Given the description of an element on the screen output the (x, y) to click on. 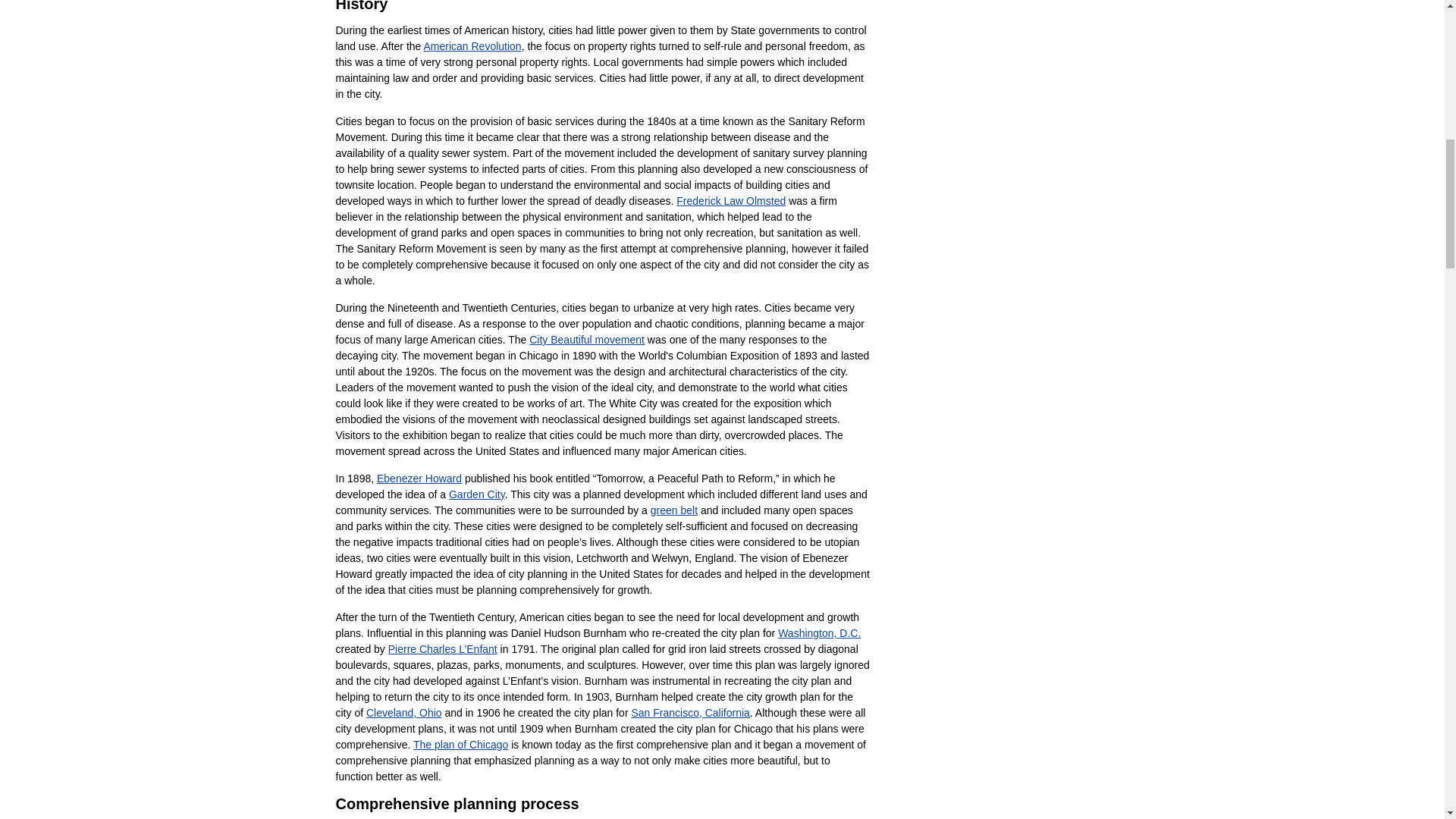
American Revolution (472, 46)
